Given the description of an element on the screen output the (x, y) to click on. 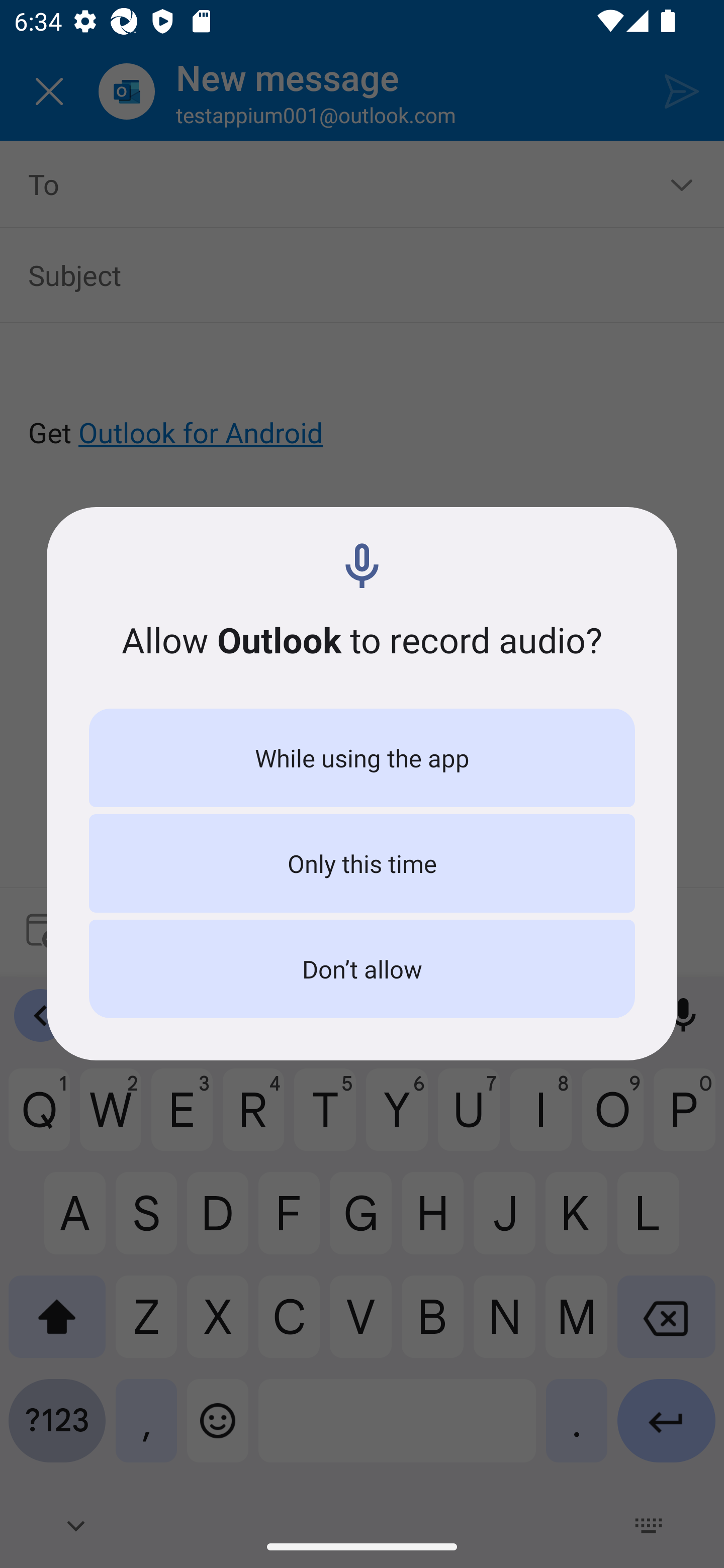
While using the app (361, 757)
Only this time (361, 862)
Don’t allow (361, 968)
